Given the description of an element on the screen output the (x, y) to click on. 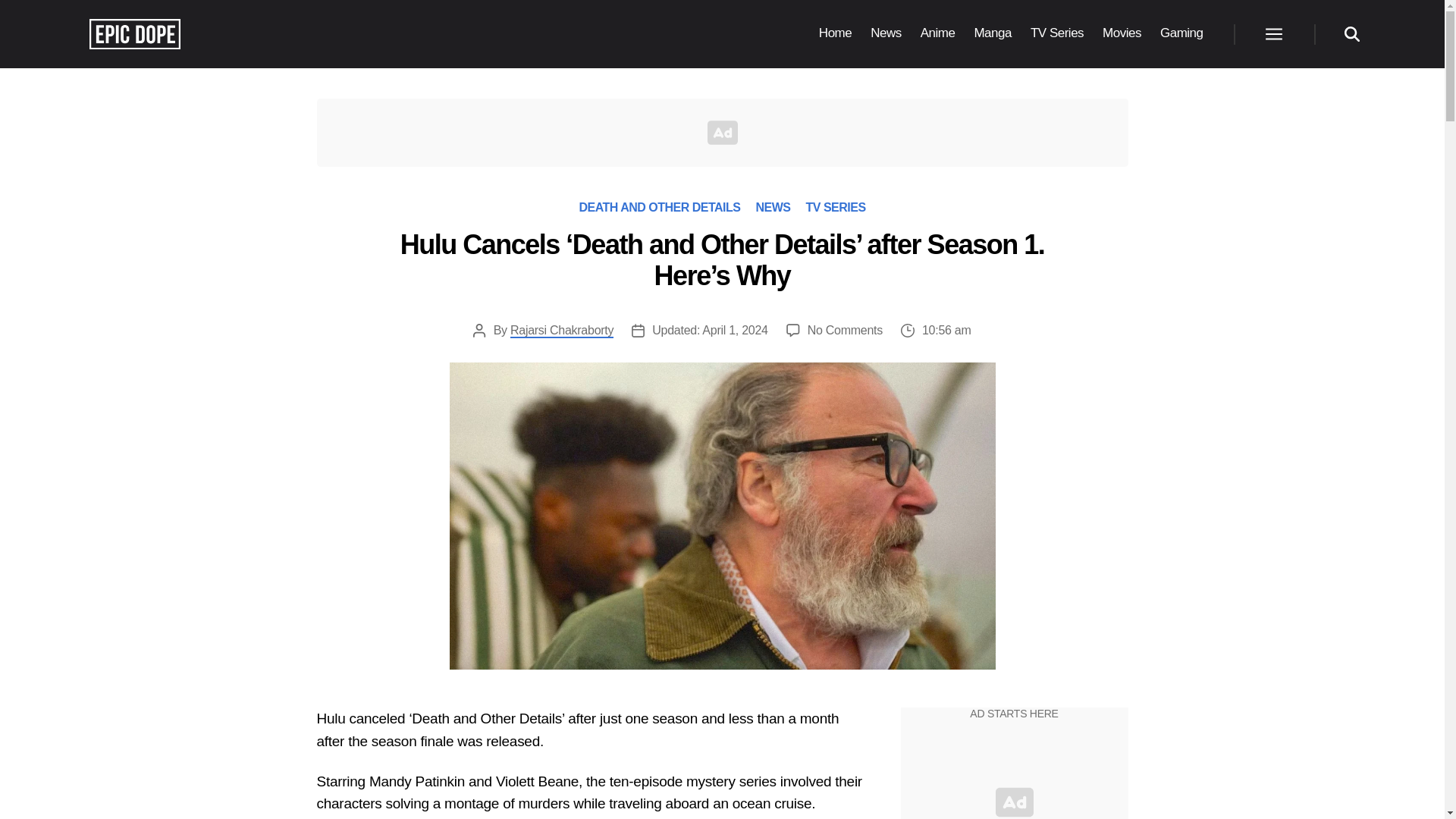
Anime (937, 33)
TV SERIES (834, 206)
NEWS (772, 206)
Home (834, 33)
Gaming (1182, 33)
Movies (1121, 33)
TV Series (1056, 33)
Manga (992, 33)
Rajarsi Chakraborty (561, 330)
News (885, 33)
